Given the description of an element on the screen output the (x, y) to click on. 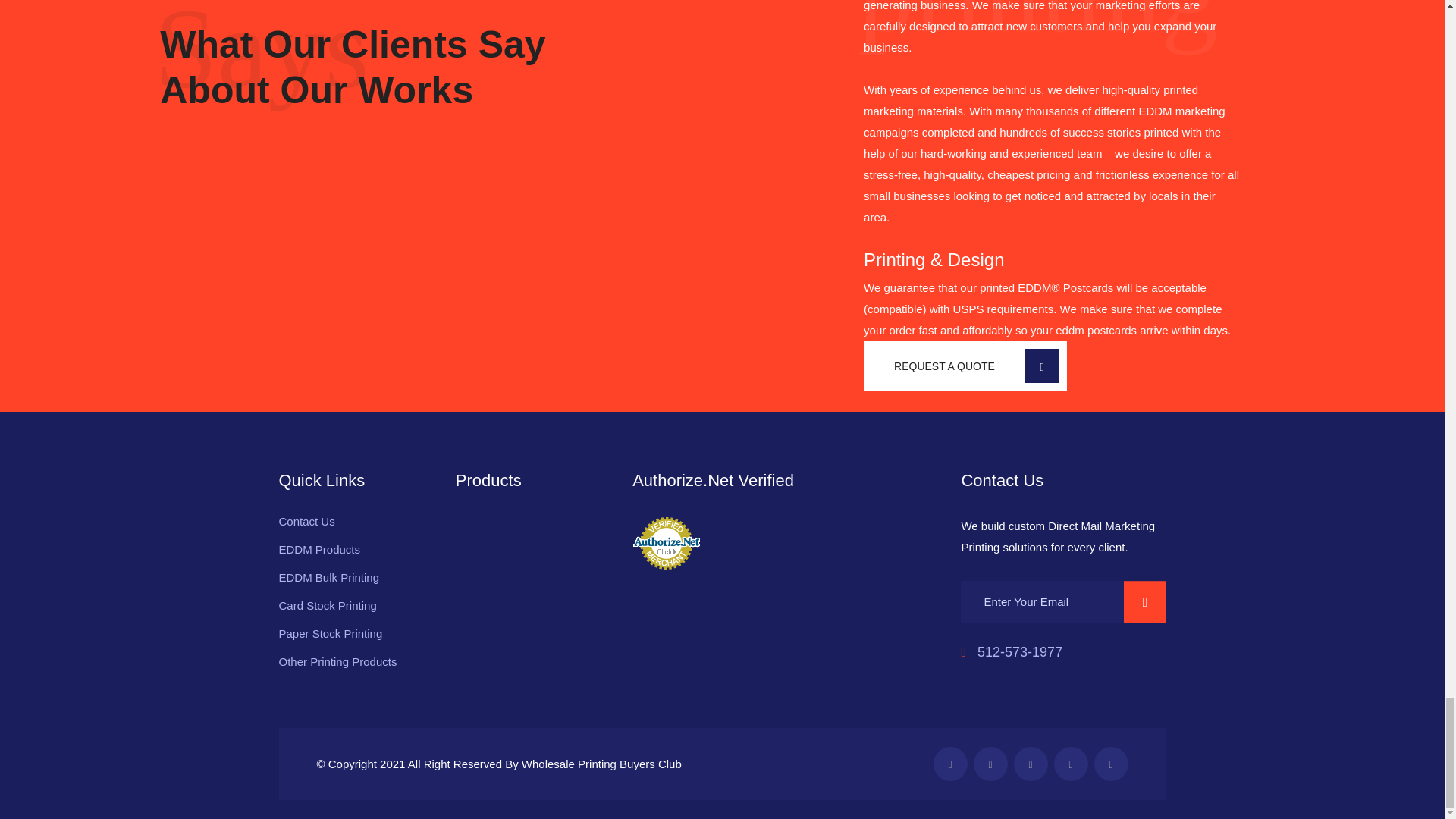
Linkedin (1070, 763)
YouTube (1029, 763)
Twitter (990, 763)
instagram (1109, 763)
Facebook (949, 763)
